Given the description of an element on the screen output the (x, y) to click on. 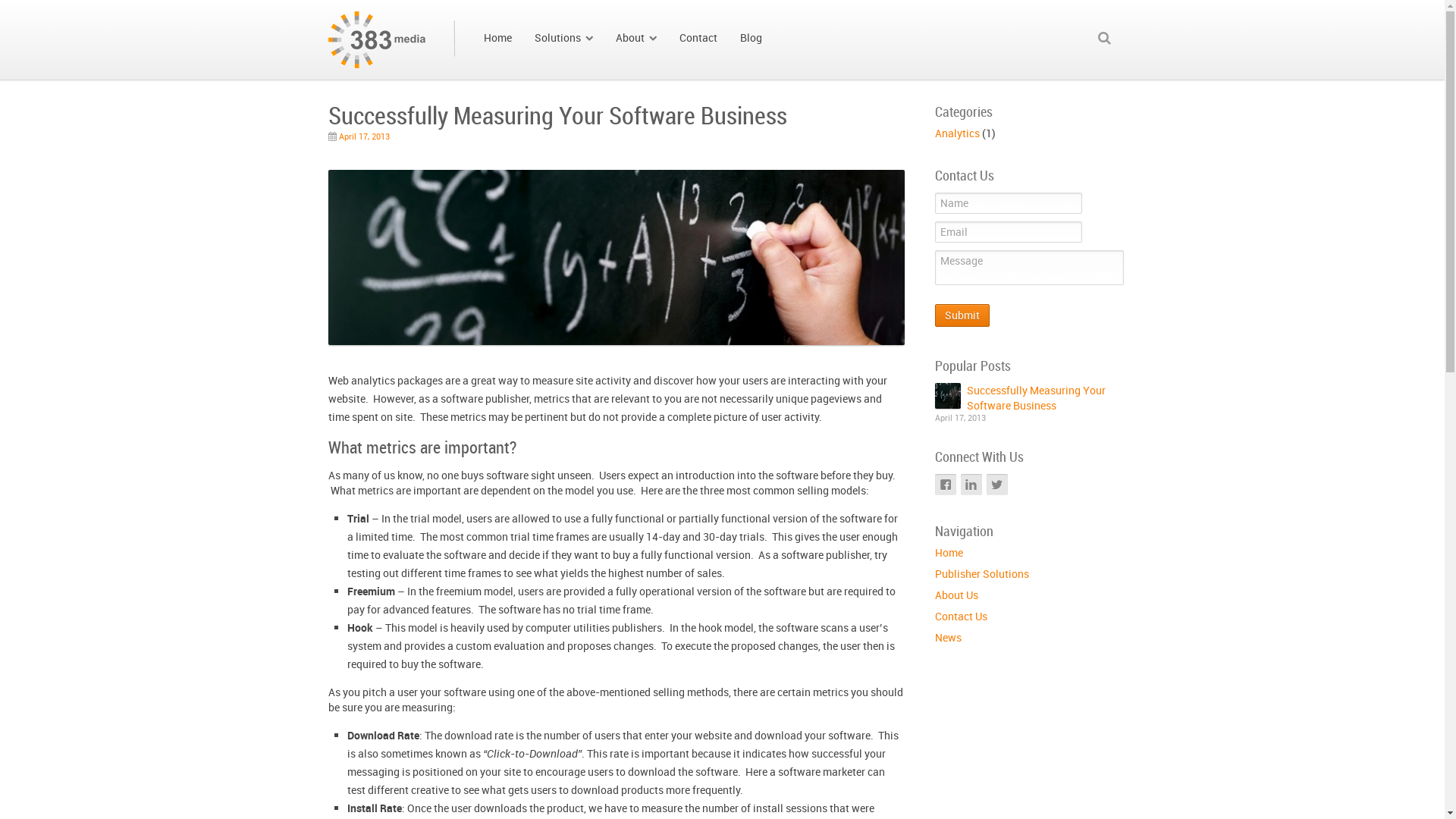
Successfully Measuring Your Software Business Element type: hover (947, 395)
News Element type: text (947, 637)
Search Element type: text (26, 11)
Contact Element type: text (697, 37)
Solutions Element type: text (563, 37)
Submit Element type: text (961, 315)
383 Media Element type: hover (391, 20)
Home Element type: text (948, 552)
April 17, 2013 Element type: text (363, 135)
Twitter Element type: hover (996, 484)
Publisher Solutions Element type: text (981, 573)
About Element type: text (635, 37)
Contact Us Element type: text (960, 615)
Successfully Measuring Your Software Business Element type: text (1035, 397)
Linked In Element type: hover (970, 484)
Facebook Element type: hover (944, 484)
Analytics Element type: text (956, 132)
Blog Element type: text (750, 37)
About Us Element type: text (955, 594)
Home Element type: text (496, 37)
